Given the description of an element on the screen output the (x, y) to click on. 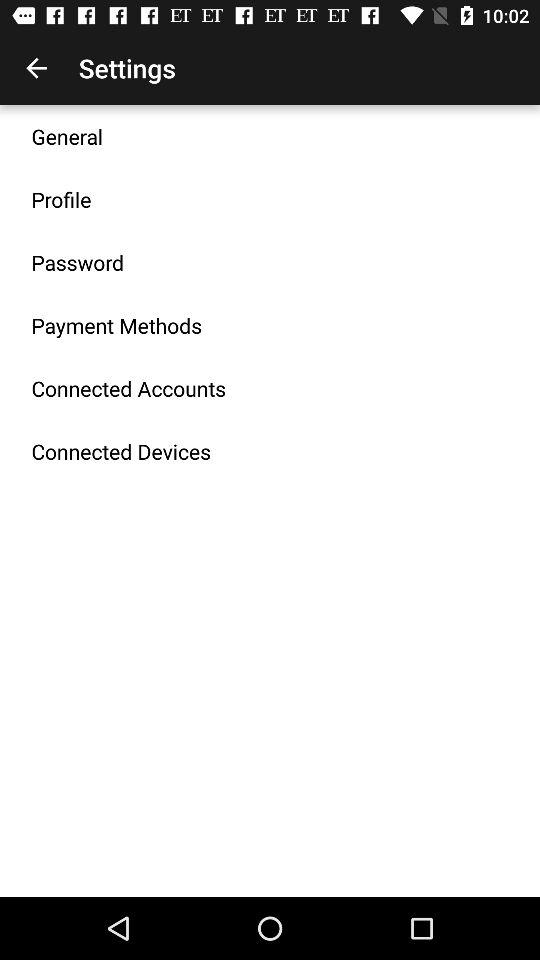
flip to the password (77, 262)
